Given the description of an element on the screen output the (x, y) to click on. 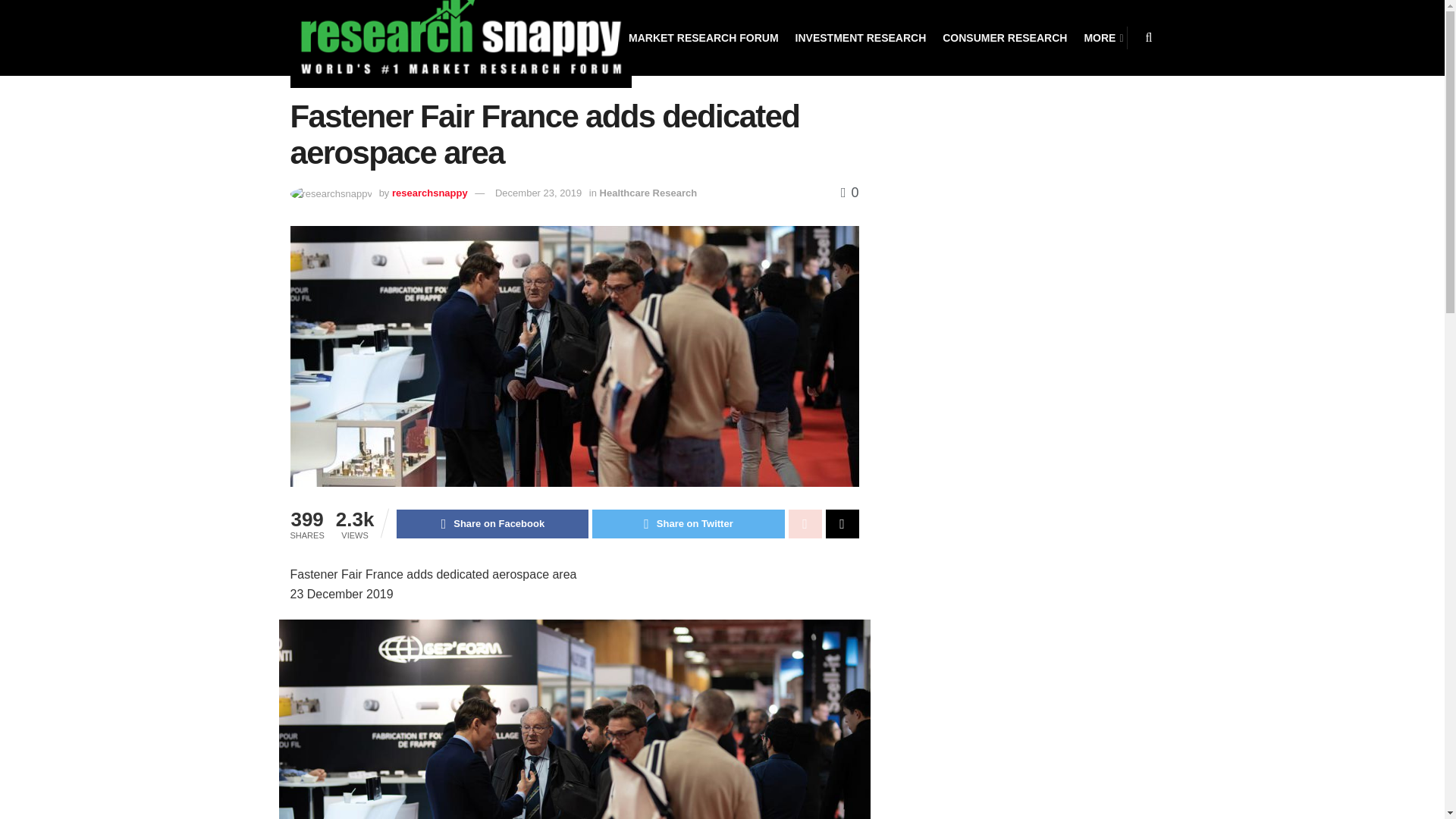
CONSUMER RESEARCH (1004, 38)
MARKET RESEARCH FORUM (703, 38)
December 23, 2019 (537, 193)
INVESTMENT RESEARCH (860, 38)
0 (850, 192)
researchsnappy (429, 193)
Healthcare Research (648, 193)
Share on Twitter (688, 523)
Share on Facebook (492, 523)
